Given the description of an element on the screen output the (x, y) to click on. 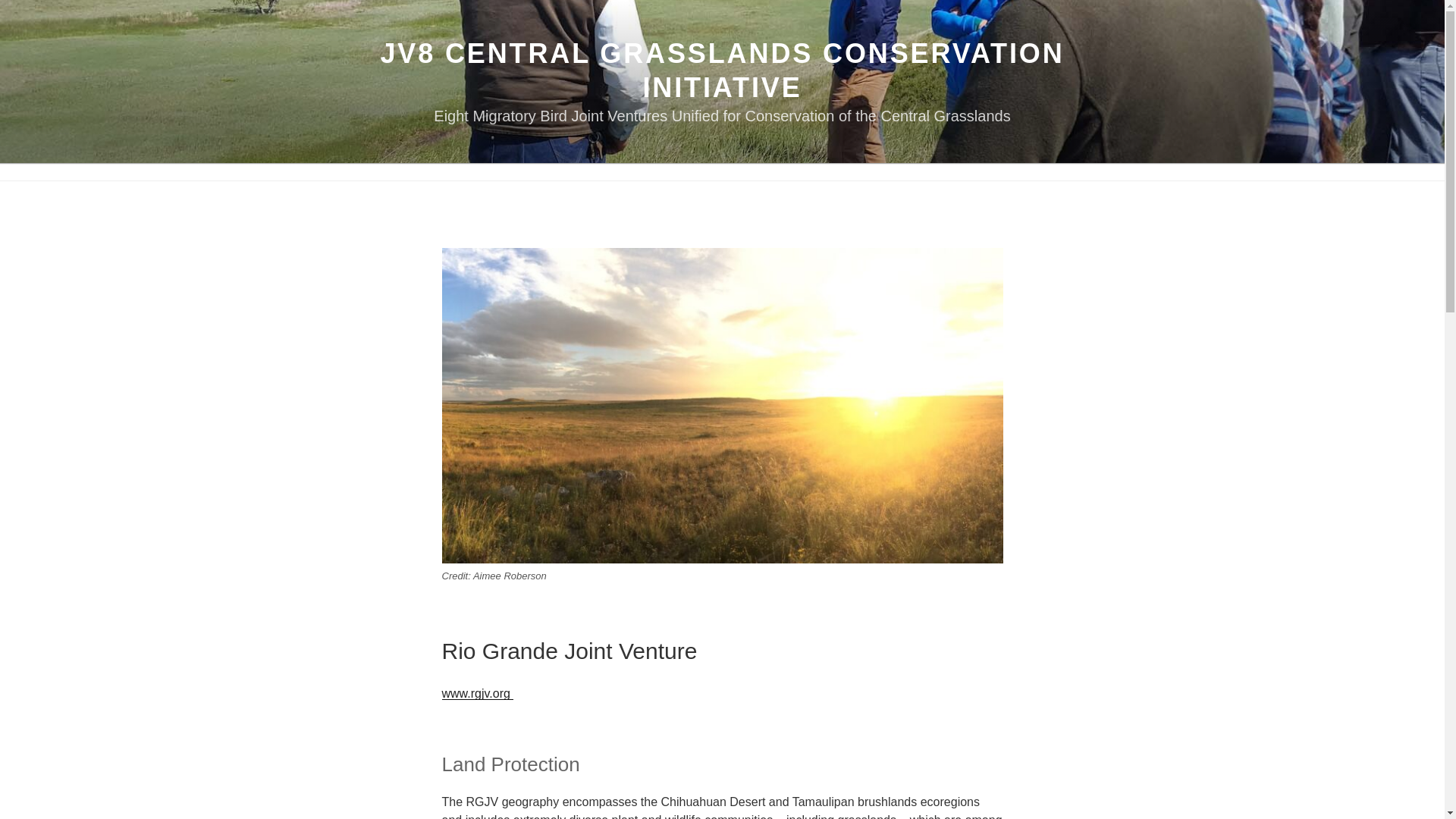
www.rgjv.org  (477, 693)
JV8 CENTRAL GRASSLANDS CONSERVATION INITIATIVE (722, 70)
